Given the description of an element on the screen output the (x, y) to click on. 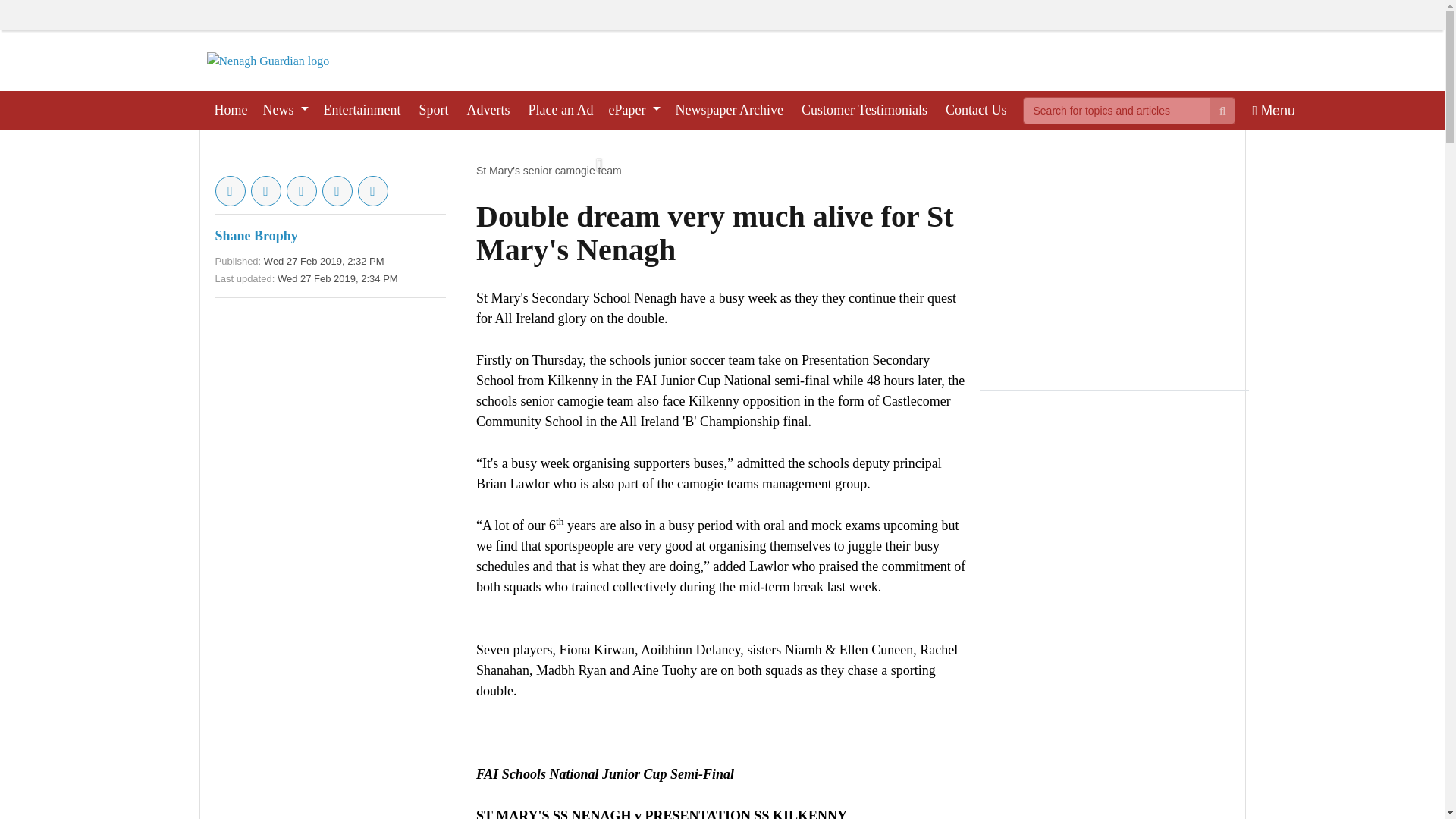
ePaper (634, 109)
News (285, 109)
Menu (1273, 109)
